Given the description of an element on the screen output the (x, y) to click on. 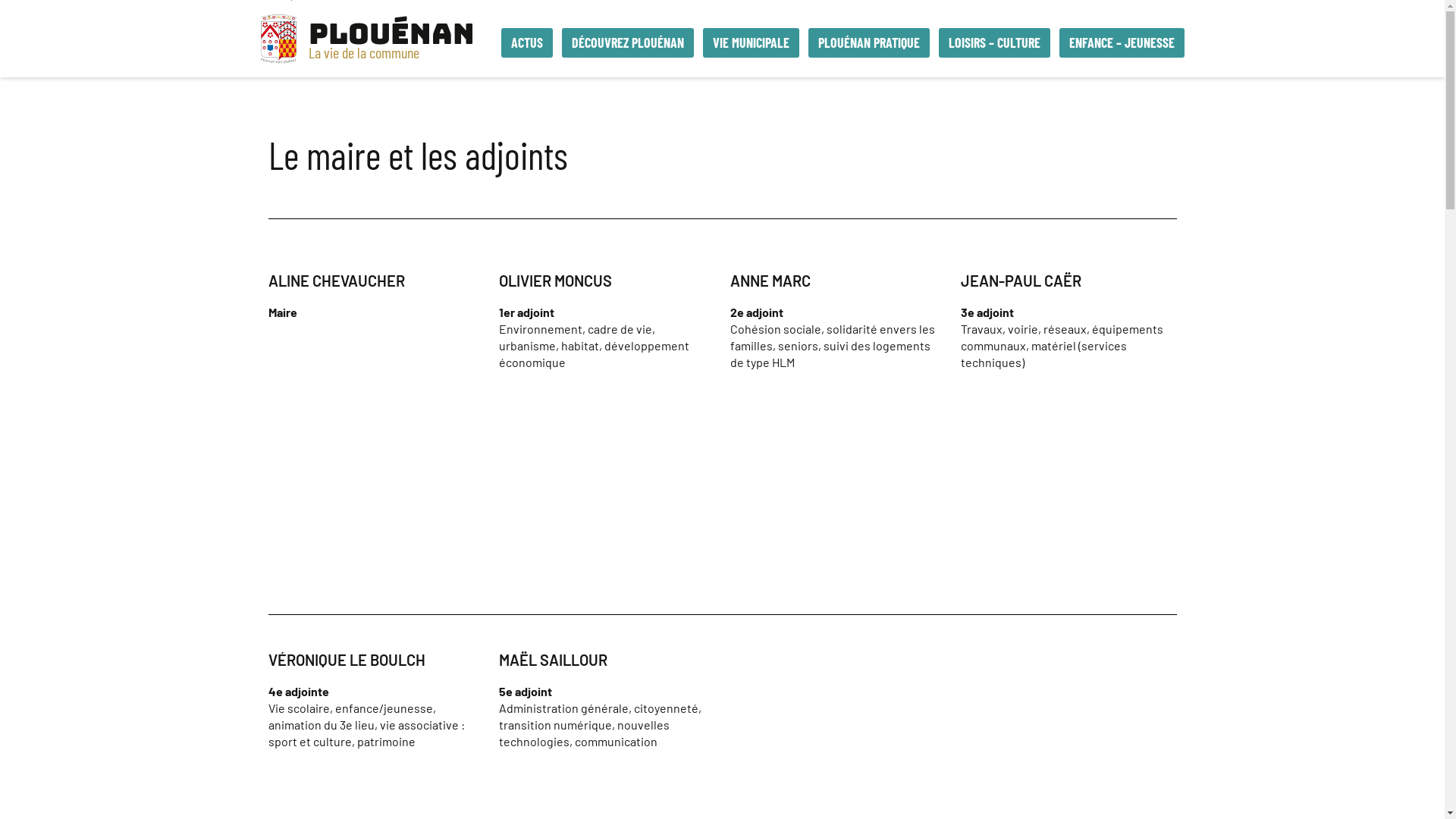
VIE MUNICIPALE Element type: text (750, 42)
ACTUS Element type: text (526, 42)
